Given the description of an element on the screen output the (x, y) to click on. 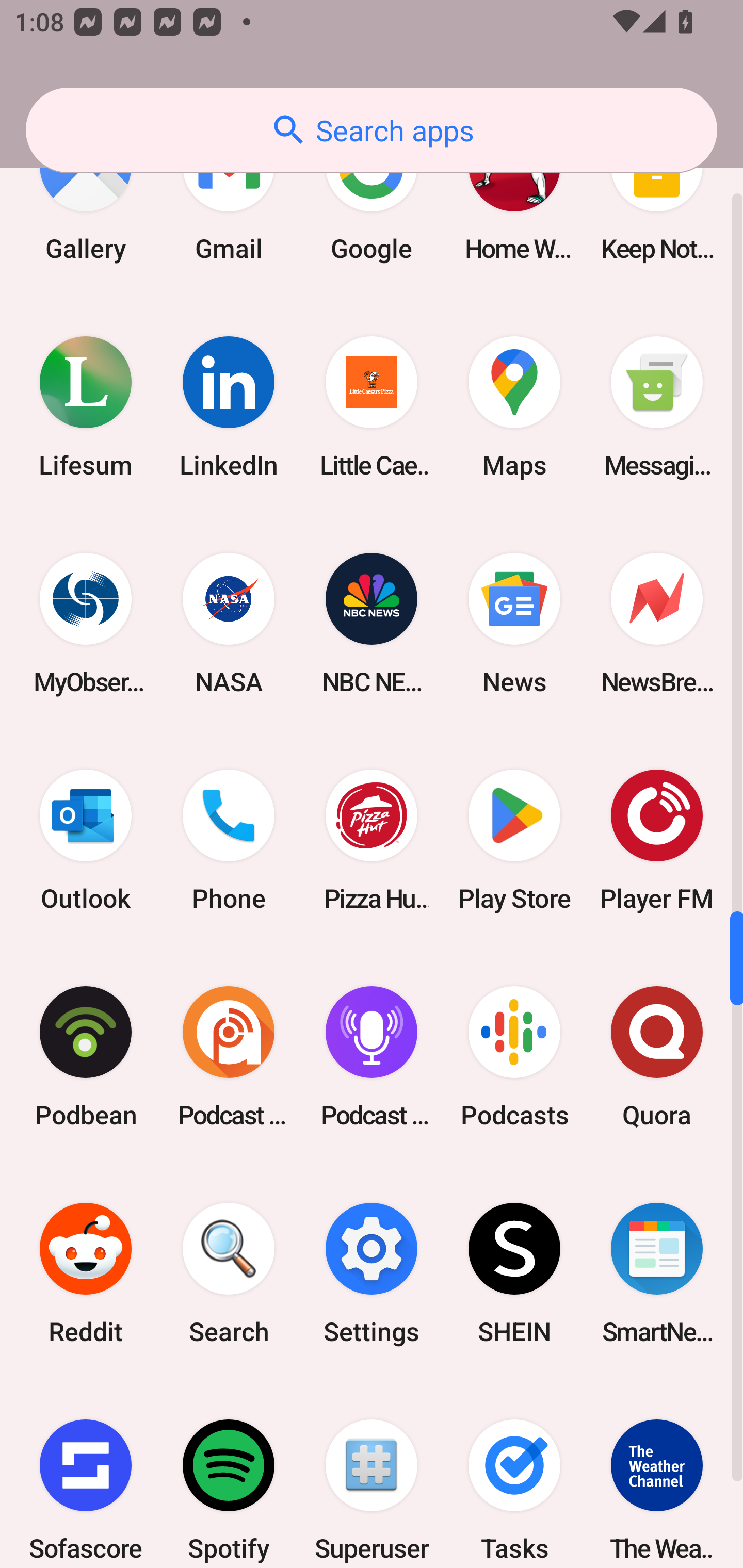
  Search apps (371, 130)
Gallery (85, 200)
Gmail (228, 200)
Google (371, 200)
Home Workout (514, 200)
Keep Notes (656, 200)
Lifesum (85, 406)
LinkedIn (228, 406)
Little Caesars Pizza (371, 406)
Maps (514, 406)
Messaging (656, 406)
MyObservatory (85, 623)
NASA (228, 623)
NBC NEWS (371, 623)
News (514, 623)
NewsBreak (656, 623)
Outlook (85, 840)
Phone (228, 840)
Pizza Hut HK & Macau (371, 840)
Play Store (514, 840)
Player FM (656, 840)
Podbean (85, 1056)
Podcast Addict (228, 1056)
Podcast Player (371, 1056)
Podcasts (514, 1056)
Quora (656, 1056)
Reddit (85, 1273)
Search (228, 1273)
Settings (371, 1273)
SHEIN (514, 1273)
SmartNews (656, 1273)
Sofascore (85, 1474)
Spotify (228, 1474)
Superuser (371, 1474)
Tasks (514, 1474)
The Weather Channel (656, 1474)
